Given the description of an element on the screen output the (x, y) to click on. 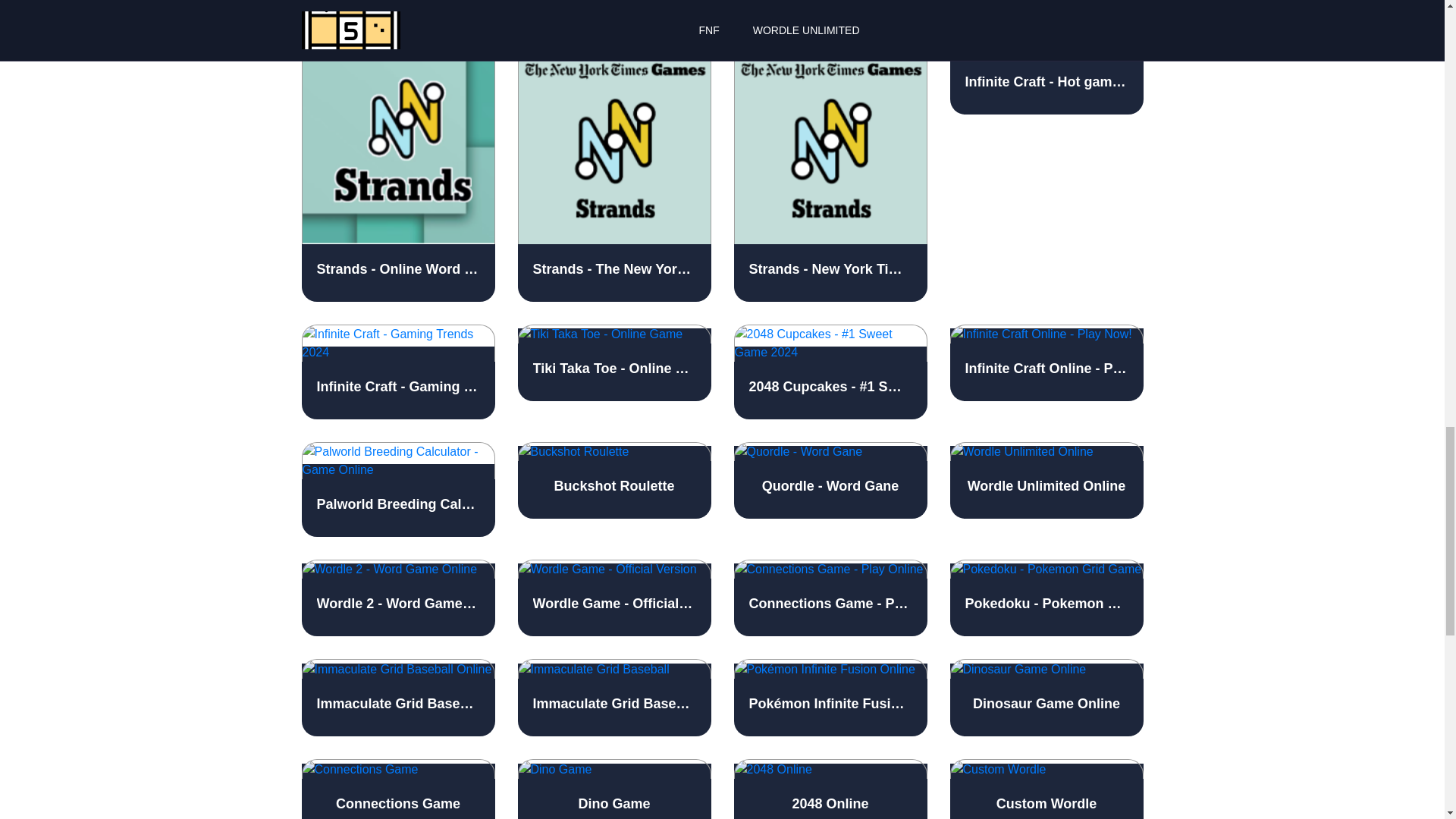
Play Infinite Craft Online - Play Now! (1045, 363)
Play Buckshot Roulette (613, 480)
Pokedoku - Pokemon Grid Game (1045, 598)
Play Pokedoku - Pokemon Grid Game (1045, 598)
Infinite Craft Online - Play Now! (1045, 363)
2048 Online (830, 789)
Wordle Game - Official Version (613, 598)
Connections Game (398, 789)
Wordle 2 - Word Game Online (398, 598)
Tiki Taka Toe - Online Game (613, 363)
Quordle - Word Gane (830, 480)
Play Infinite Craft - Gaming Trends 2024 (398, 371)
Palworld Breeding Calculator - Game Online (398, 489)
Dino Game (613, 789)
Buckshot Roulette (613, 480)
